Given the description of an element on the screen output the (x, y) to click on. 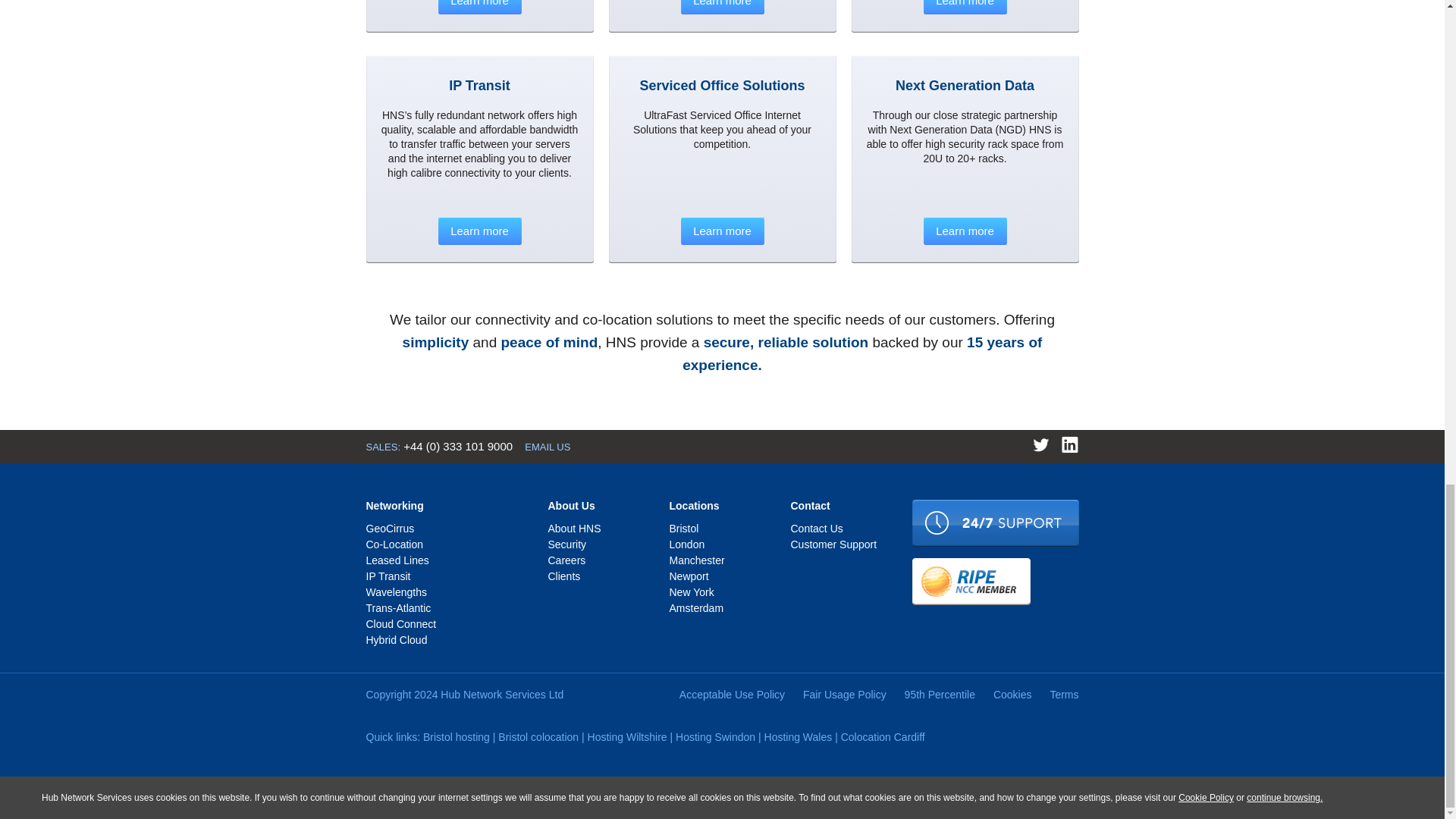
Hosting Wiltshire (627, 736)
continue browsing. (1284, 797)
Hosting Wales (798, 736)
Colocation Cardiff (882, 736)
Cookie Policy (1205, 797)
Hosting Swindon (715, 736)
Bristol colocation (537, 736)
Bristol Hosting (456, 736)
